Given the description of an element on the screen output the (x, y) to click on. 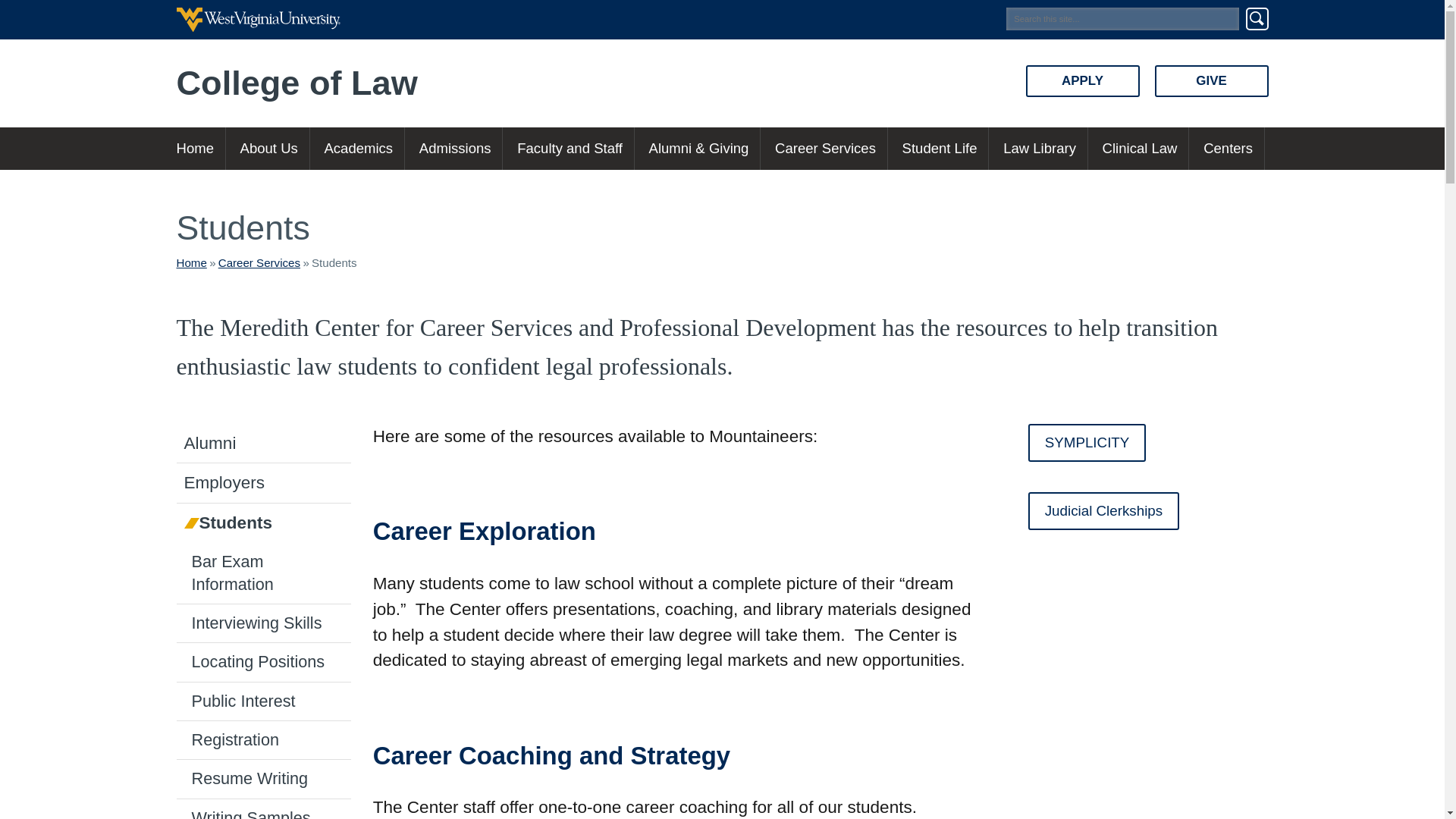
Academics (358, 148)
WVU Law Admissions (454, 148)
Student Life (940, 148)
Employers (263, 482)
Alumni (263, 443)
Interviewing Skills (263, 623)
Home (191, 262)
Centers (1228, 148)
About Us (269, 148)
Faculty and Staff (569, 148)
